Given the description of an element on the screen output the (x, y) to click on. 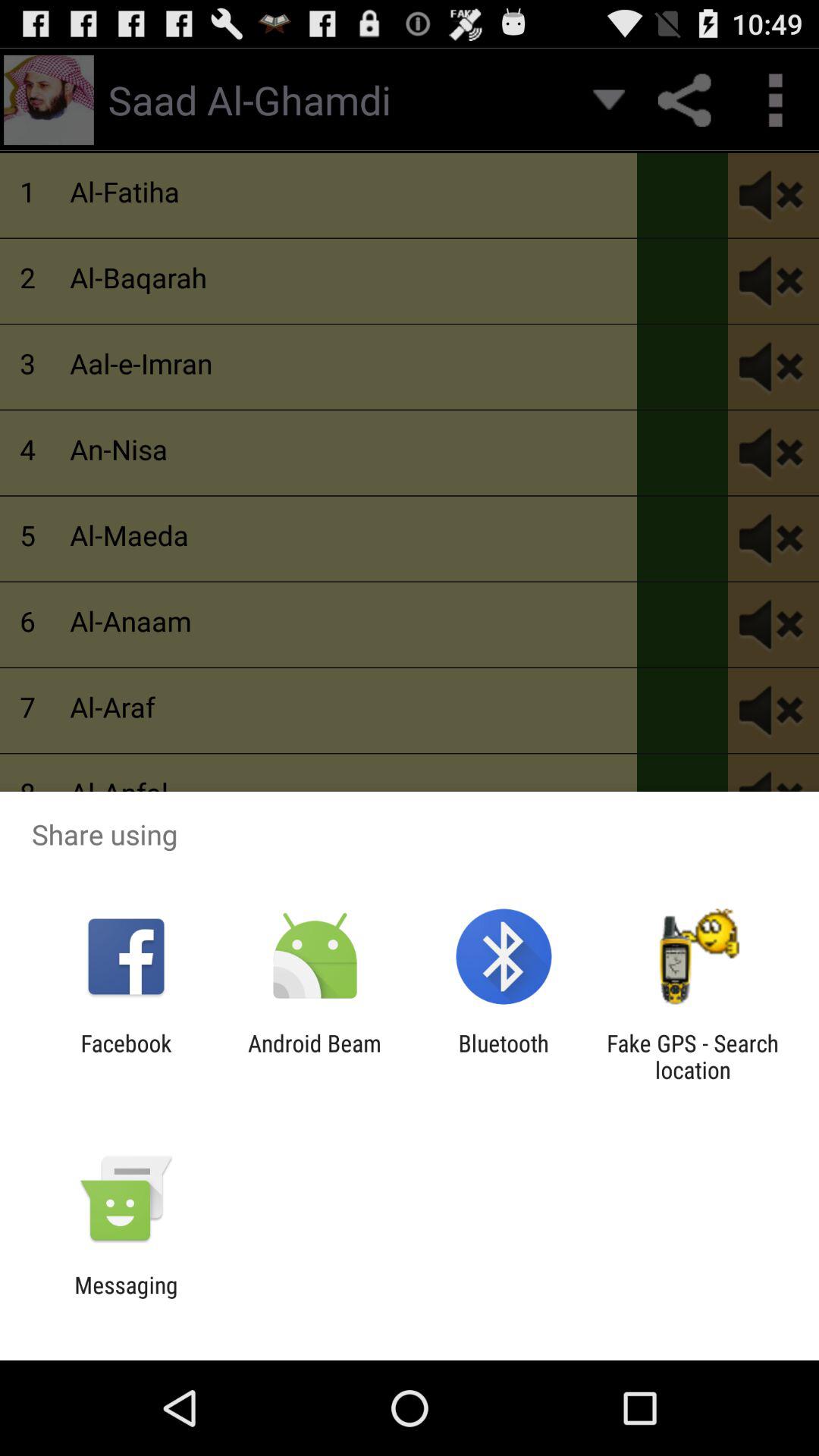
choose the app to the right of the facebook (314, 1056)
